Given the description of an element on the screen output the (x, y) to click on. 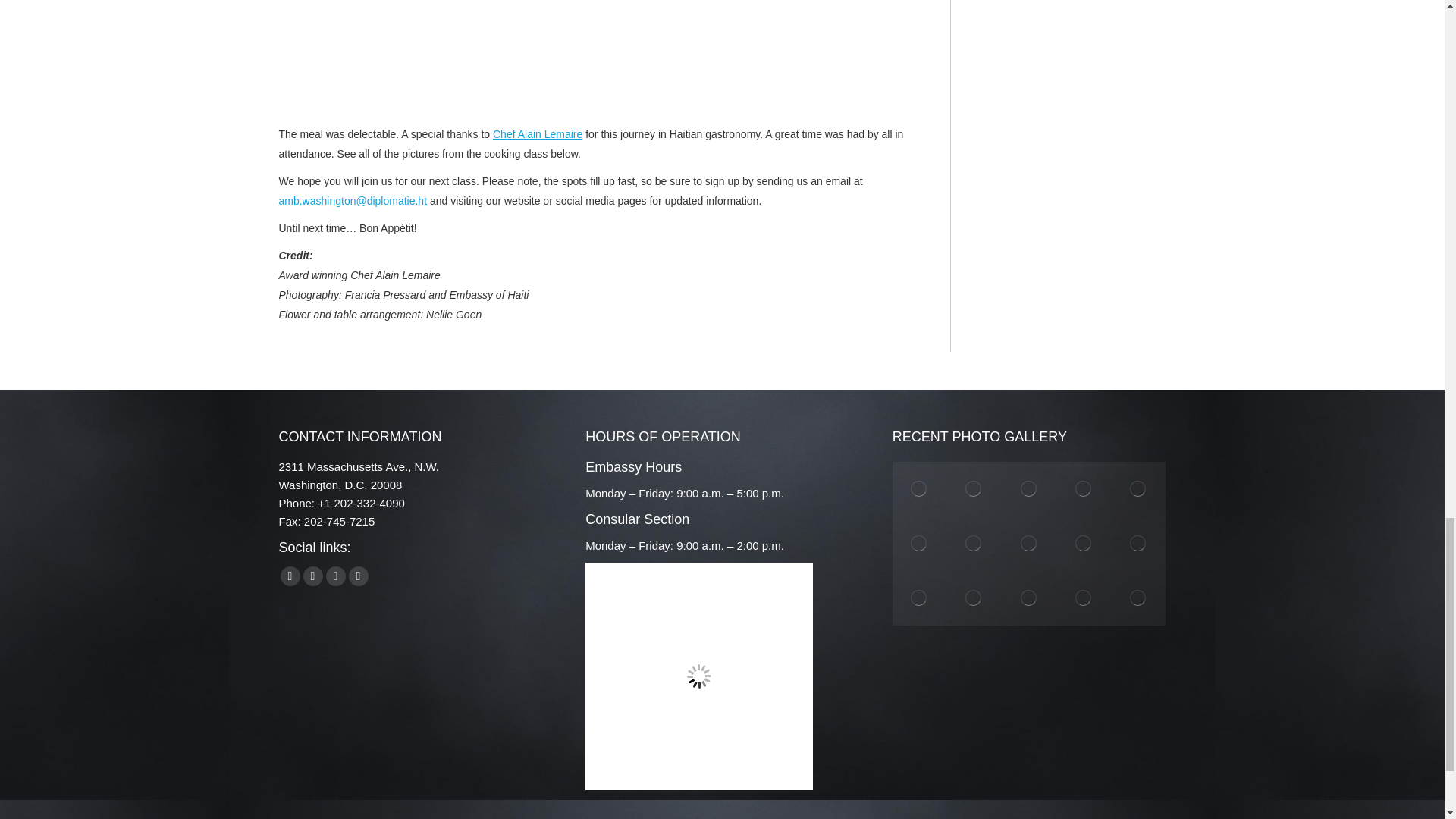
Facebook page opens in new window (290, 576)
X page opens in new window (312, 576)
Instagram page opens in new window (336, 576)
